Given the description of an element on the screen output the (x, y) to click on. 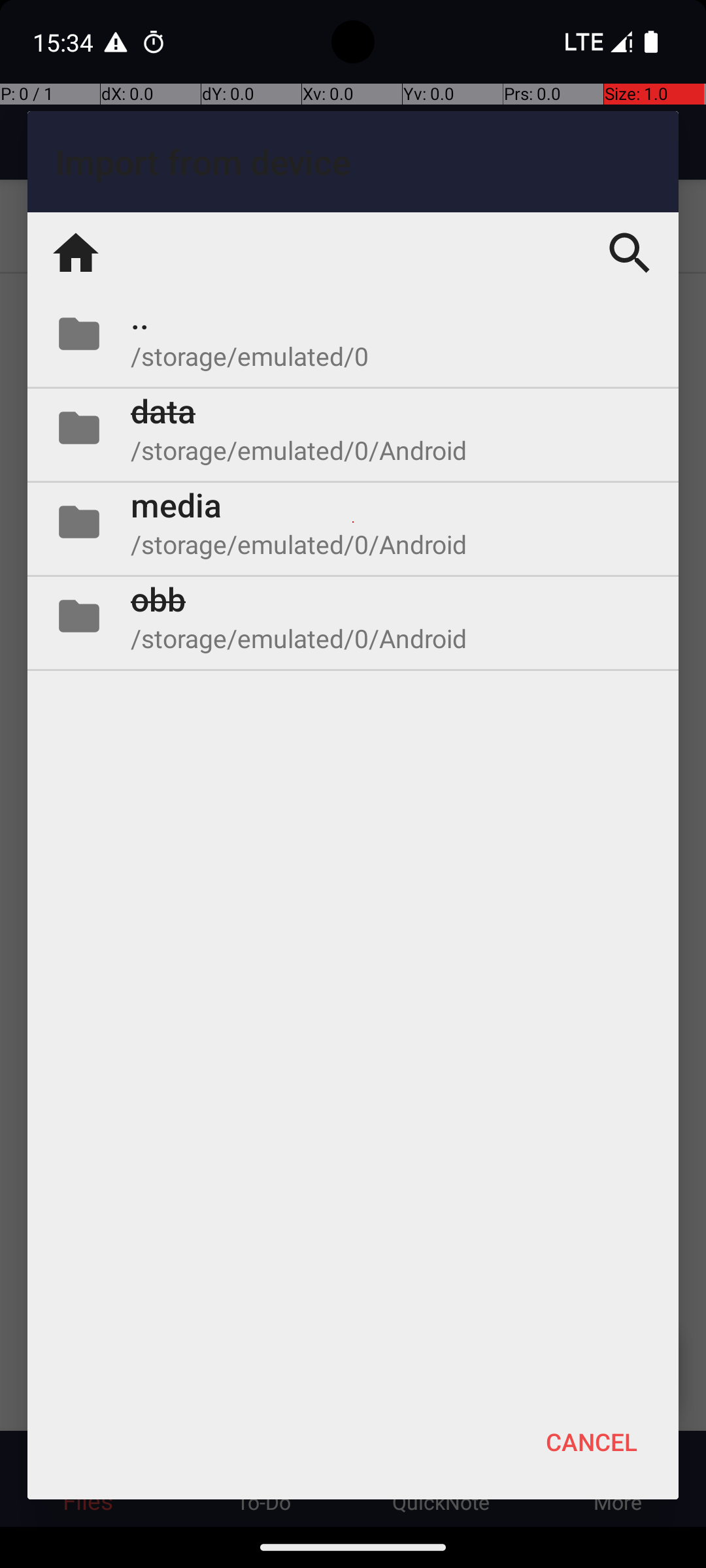
Import from device Element type: android.widget.TextView (352, 161)
Folder .. /storage/emulated/0 Element type: android.widget.LinearLayout (352, 333)
Folder data /storage/emulated/0 Element type: android.widget.LinearLayout (352, 427)
Folder media /storage/emulated/0 Element type: android.widget.LinearLayout (352, 521)
Folder obb /storage/emulated/0 Element type: android.widget.LinearLayout (352, 615)
